Given the description of an element on the screen output the (x, y) to click on. 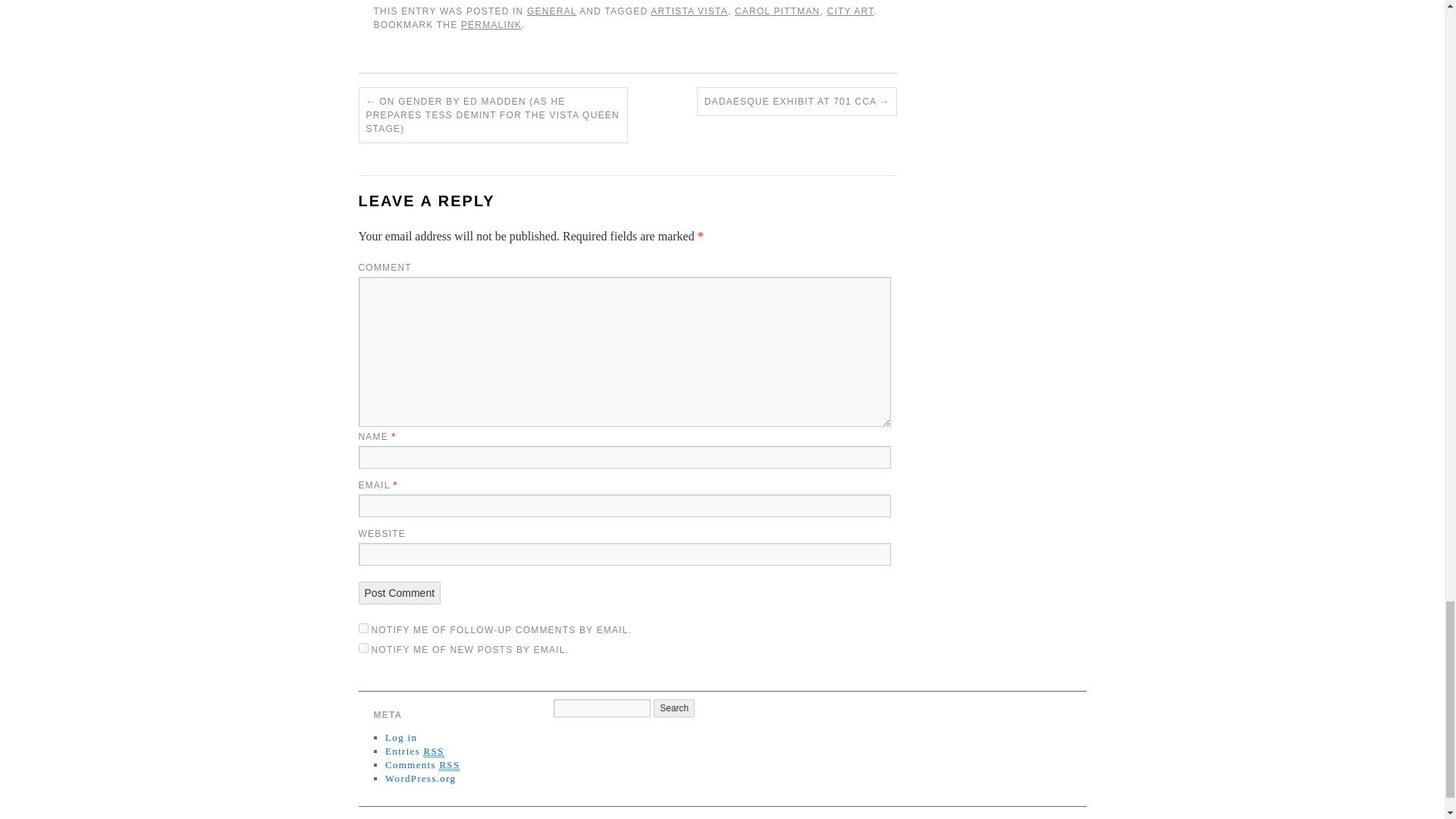
Search (673, 708)
GENERAL (551, 10)
ARTISTA VISTA (689, 10)
Log in (400, 737)
CITY ART (851, 10)
PERMALINK (491, 24)
Permalink to Carol Pittman at City Art for Artista Vista (491, 24)
Really Simple Syndication (433, 751)
subscribe (363, 647)
Post Comment (399, 592)
